Given the description of an element on the screen output the (x, y) to click on. 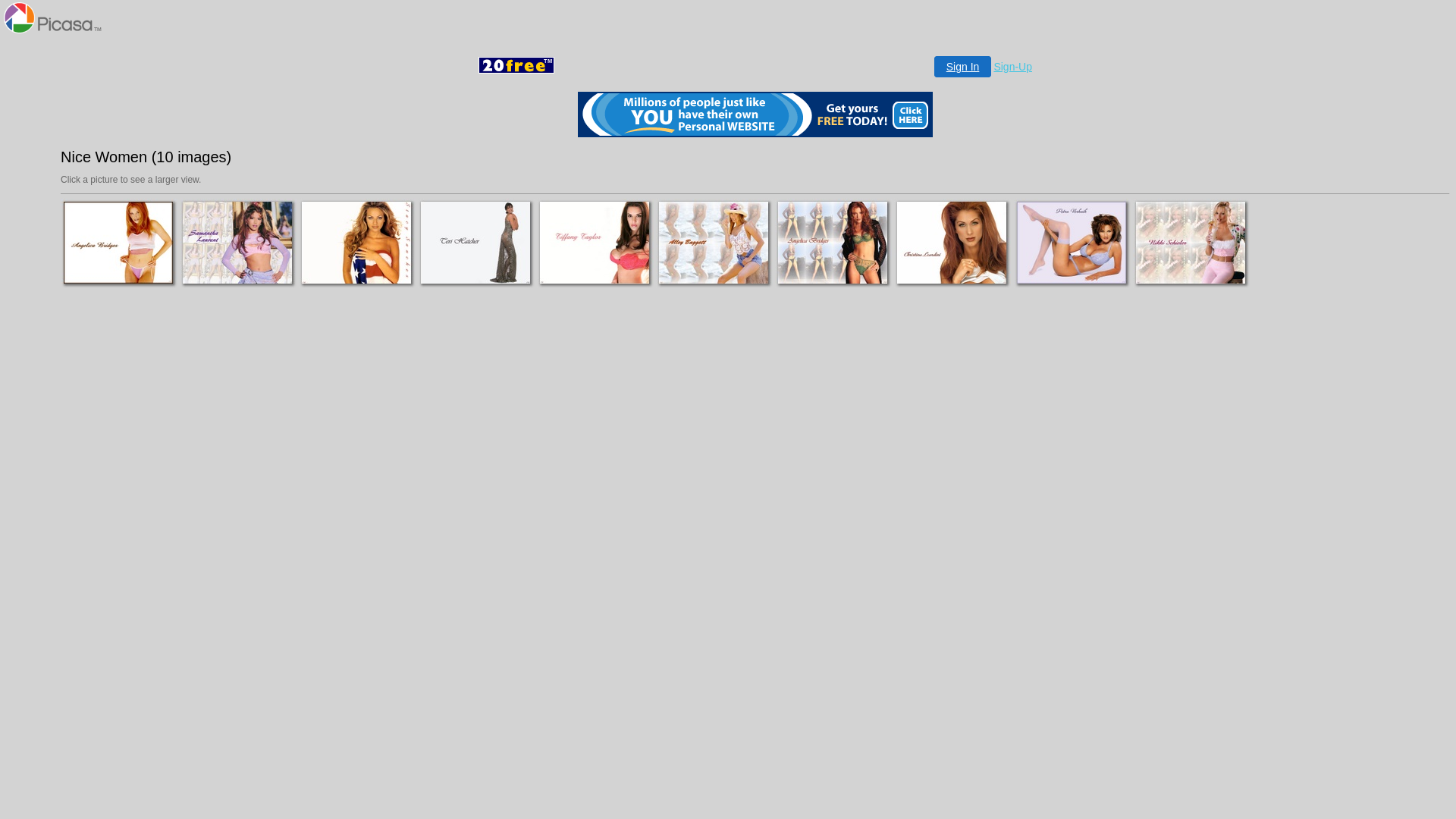
sensual_women__m_.jpg Element type: hover (713, 243)
sensual_women__o_.jpg Element type: hover (356, 243)
sensual_women__s_.jpg Element type: hover (952, 243)
sensual_women__t_.jpg Element type: hover (1071, 243)
Sign-Up Element type: text (1012, 66)
sensual_women__u_.jpg Element type: hover (1190, 243)
sensual_women__r_.jpg Element type: hover (475, 243)
sensual_women__p_.jpg Element type: hover (833, 243)
sensual_women__q_.jpg Element type: hover (237, 243)
sensual_women__l_.jpg Element type: hover (118, 243)
sensual_women__n_.jpg Element type: hover (594, 243)
Sign In Element type: text (962, 66)
